Given the description of an element on the screen output the (x, y) to click on. 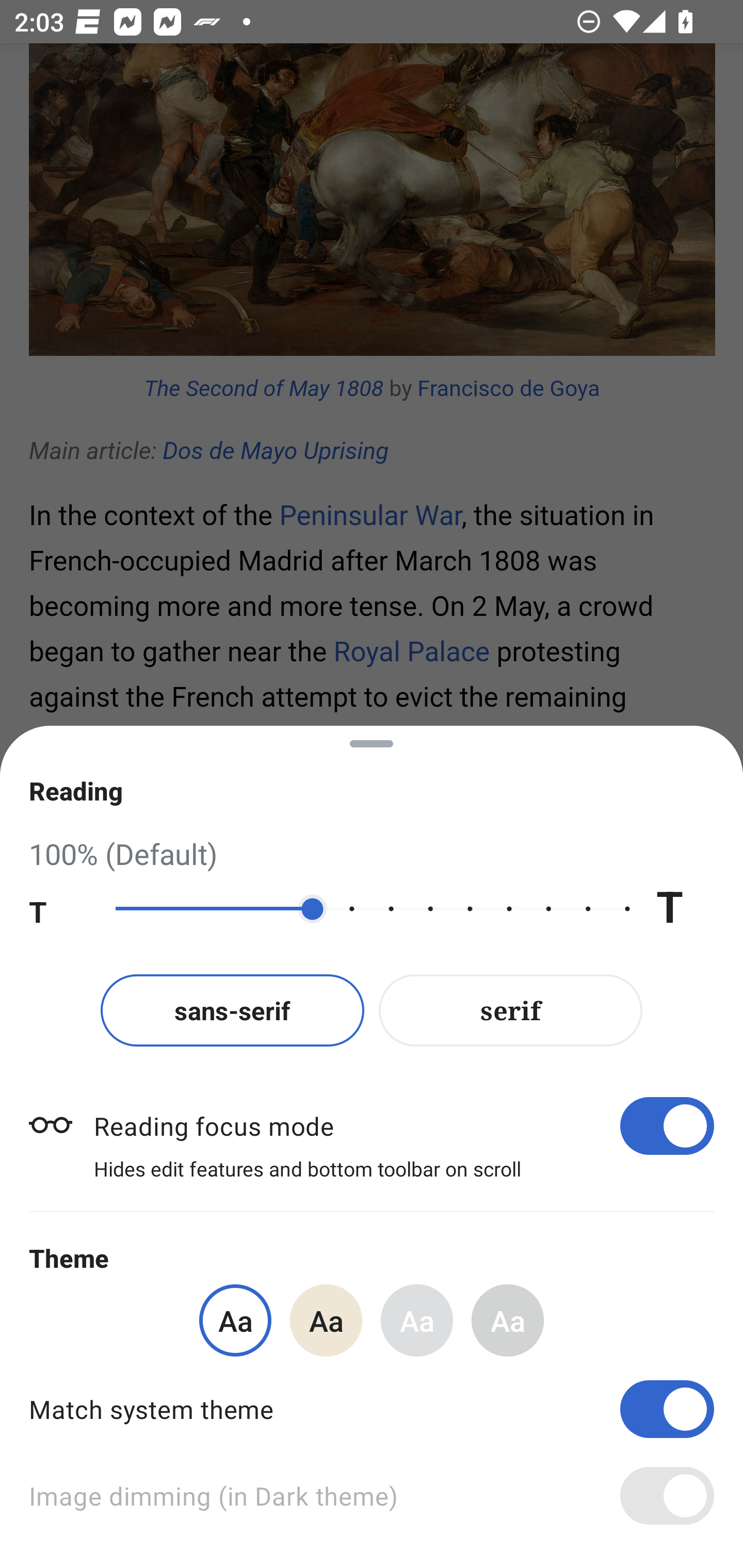
T Decrease text size (57, 909)
T Increase text size (685, 909)
sans-serif (232, 1010)
serif (510, 1010)
Reading focus mode (403, 1125)
Aa (325, 1320)
Aa (416, 1320)
Aa (507, 1320)
Match system theme (371, 1408)
Image dimming (in Dark theme) (371, 1495)
